Given the description of an element on the screen output the (x, y) to click on. 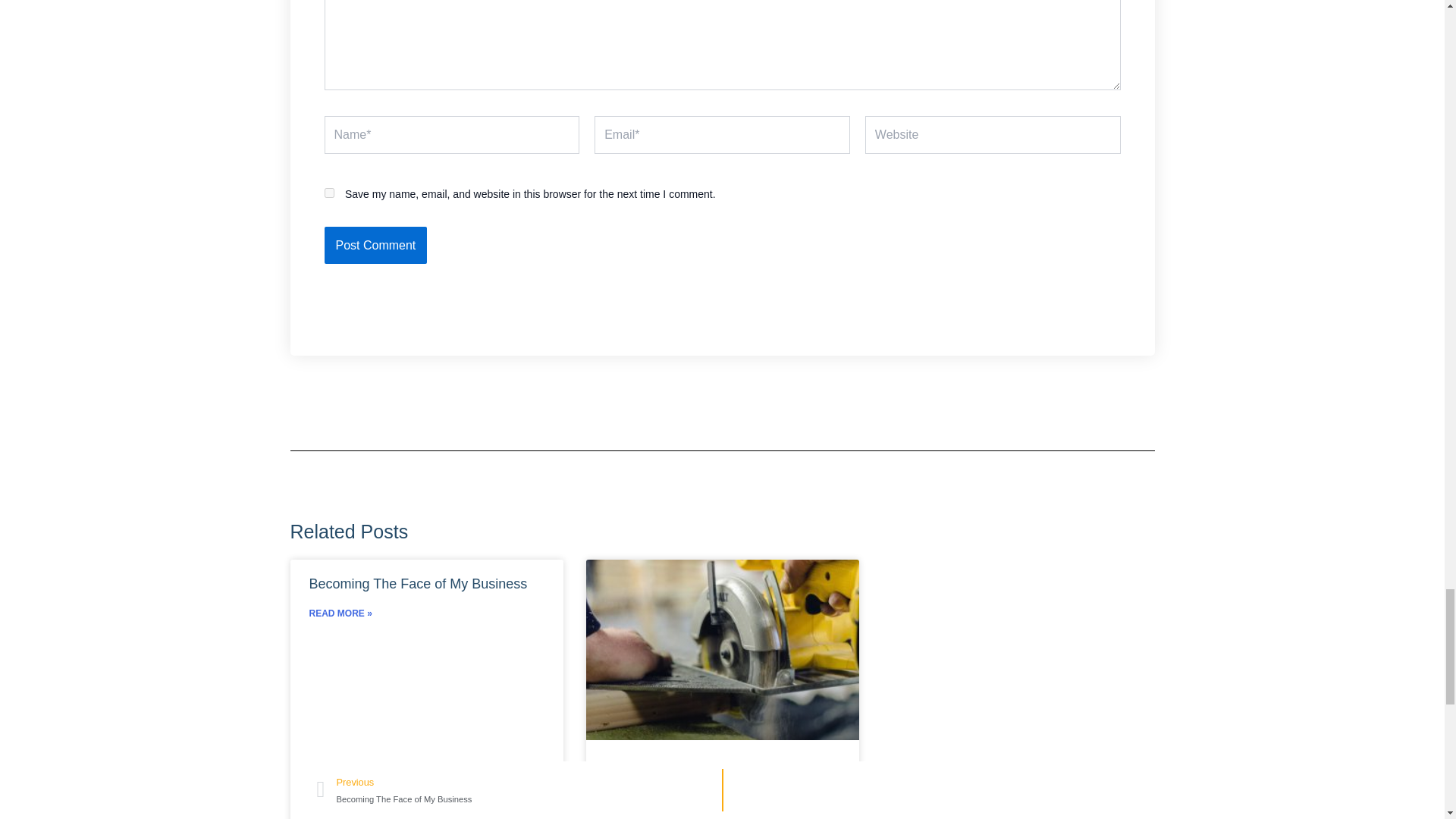
yes (329, 193)
Post Comment (376, 245)
Post Comment (376, 245)
Becoming The Face of My Business (417, 583)
Freyenhagen Construction (685, 779)
